Given the description of an element on the screen output the (x, y) to click on. 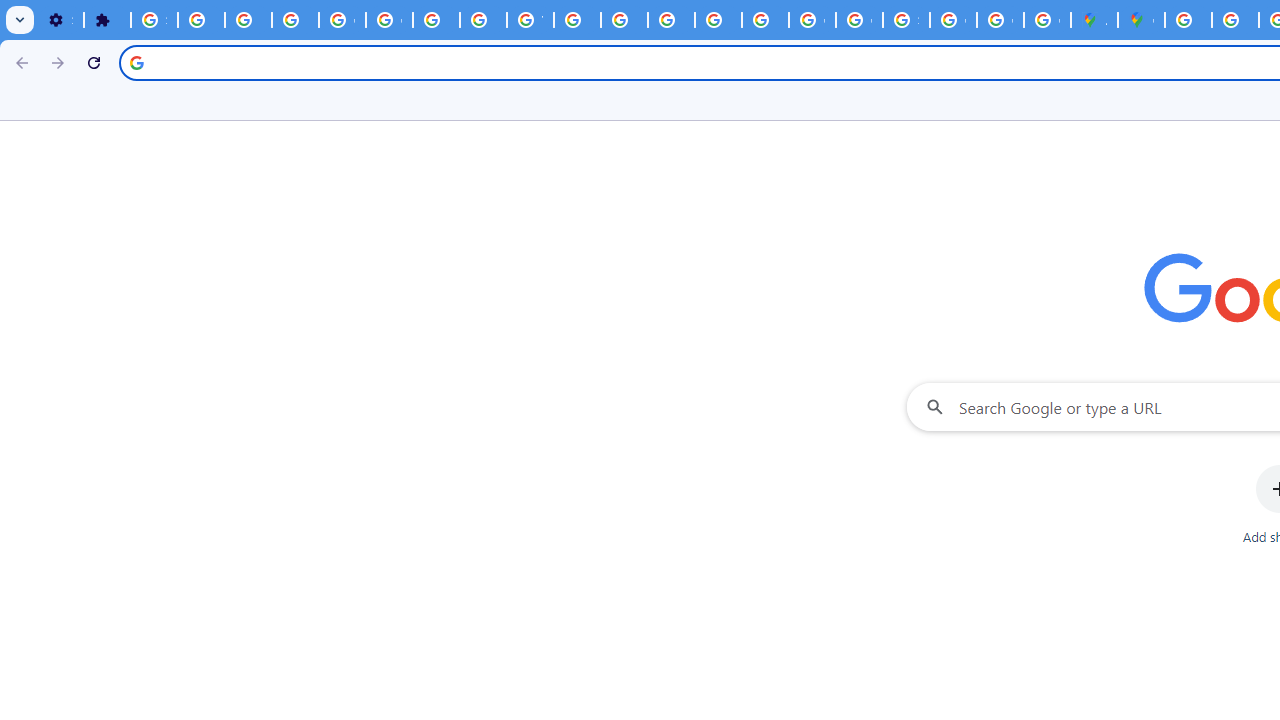
Sign in - Google Accounts (906, 20)
